Given the description of an element on the screen output the (x, y) to click on. 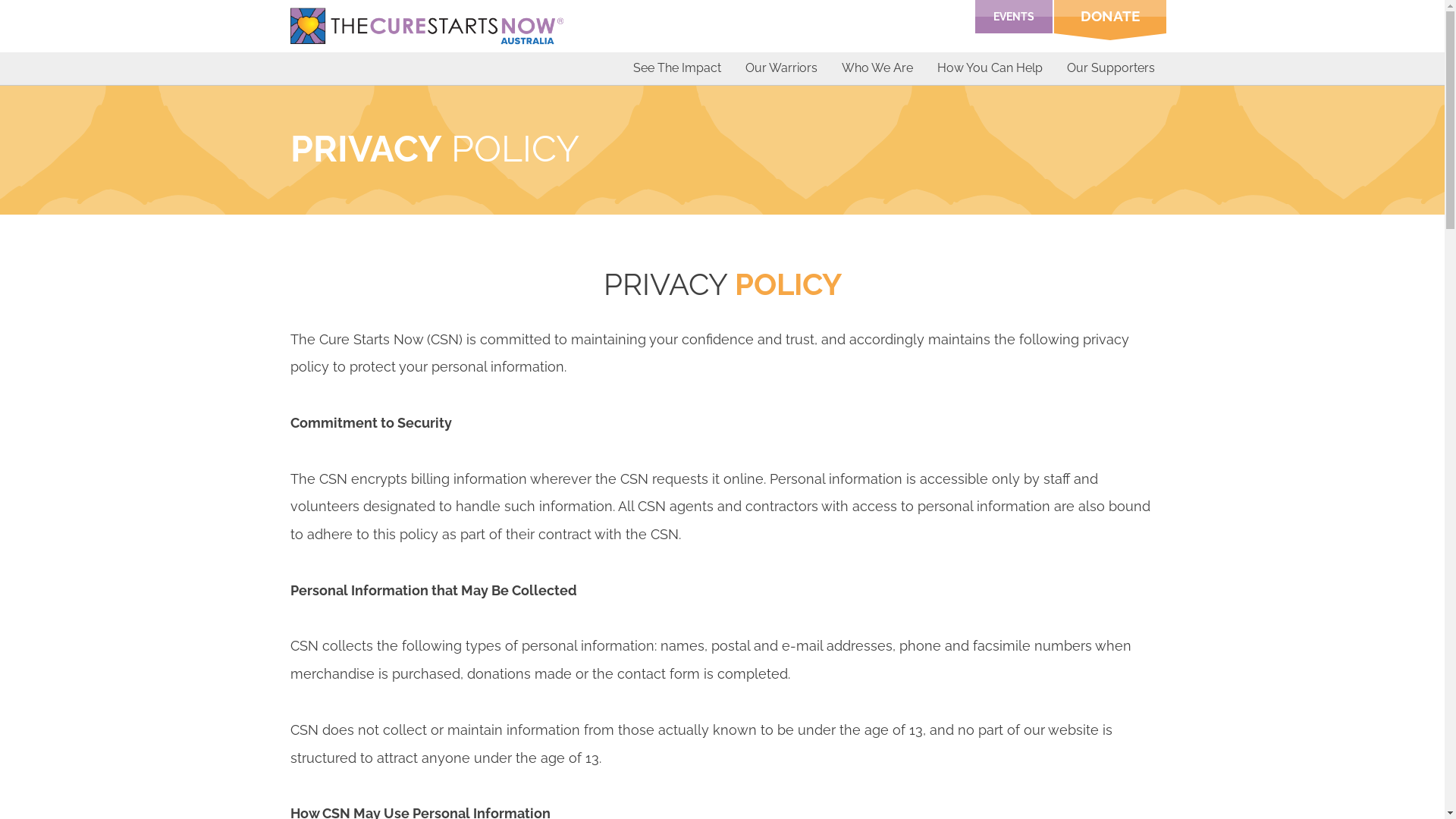
Who We Are Element type: text (876, 68)
Our Supporters Element type: text (1110, 68)
How You Can Help Element type: text (989, 68)
DONATE Element type: text (1110, 20)
Our Warriors Element type: text (781, 68)
See The Impact Element type: text (676, 68)
EVENTS Element type: text (1013, 16)
